Given the description of an element on the screen output the (x, y) to click on. 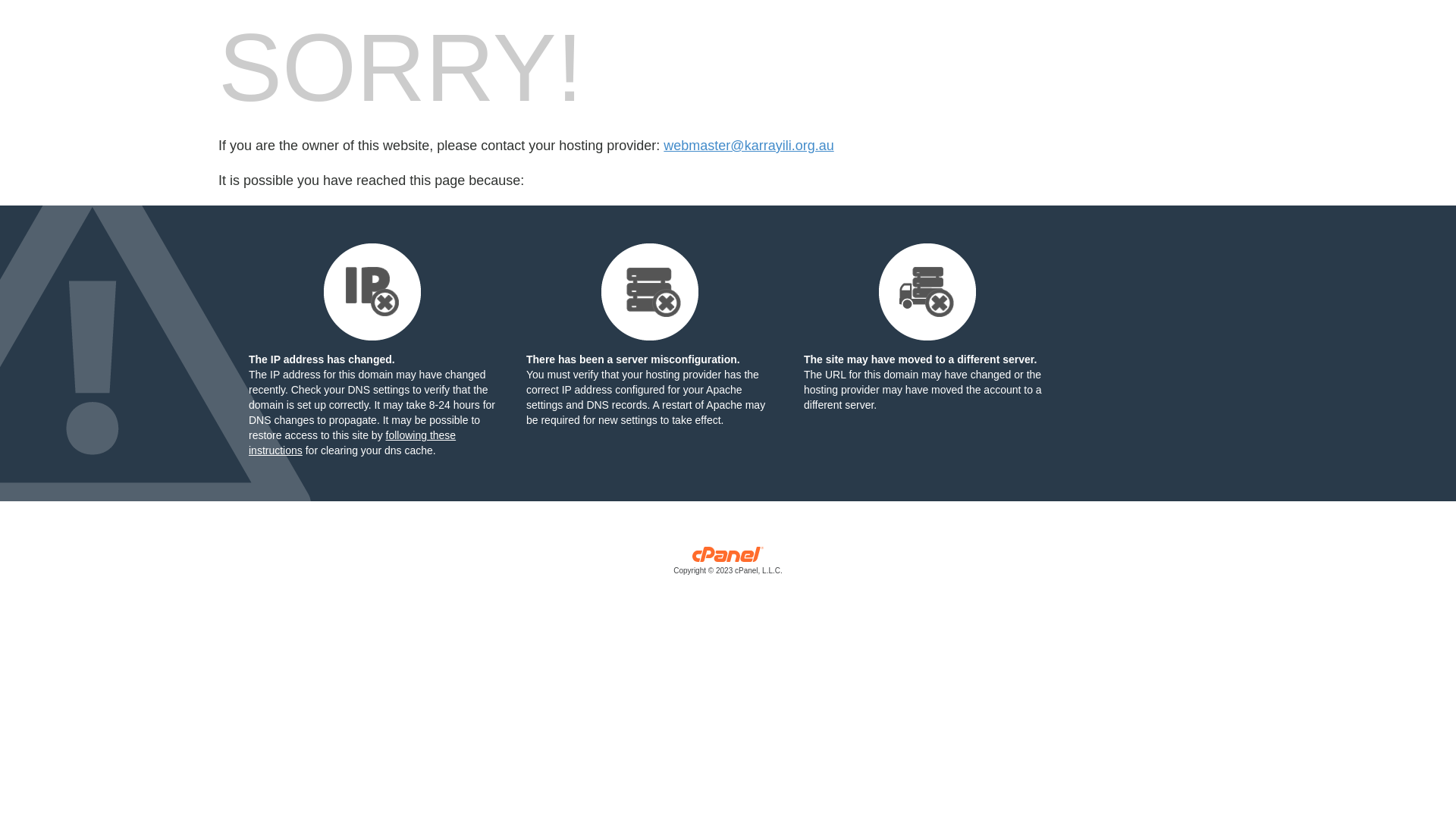
following these instructions Element type: text (351, 442)
webmaster@karrayili.org.au Element type: text (748, 145)
